Given the description of an element on the screen output the (x, y) to click on. 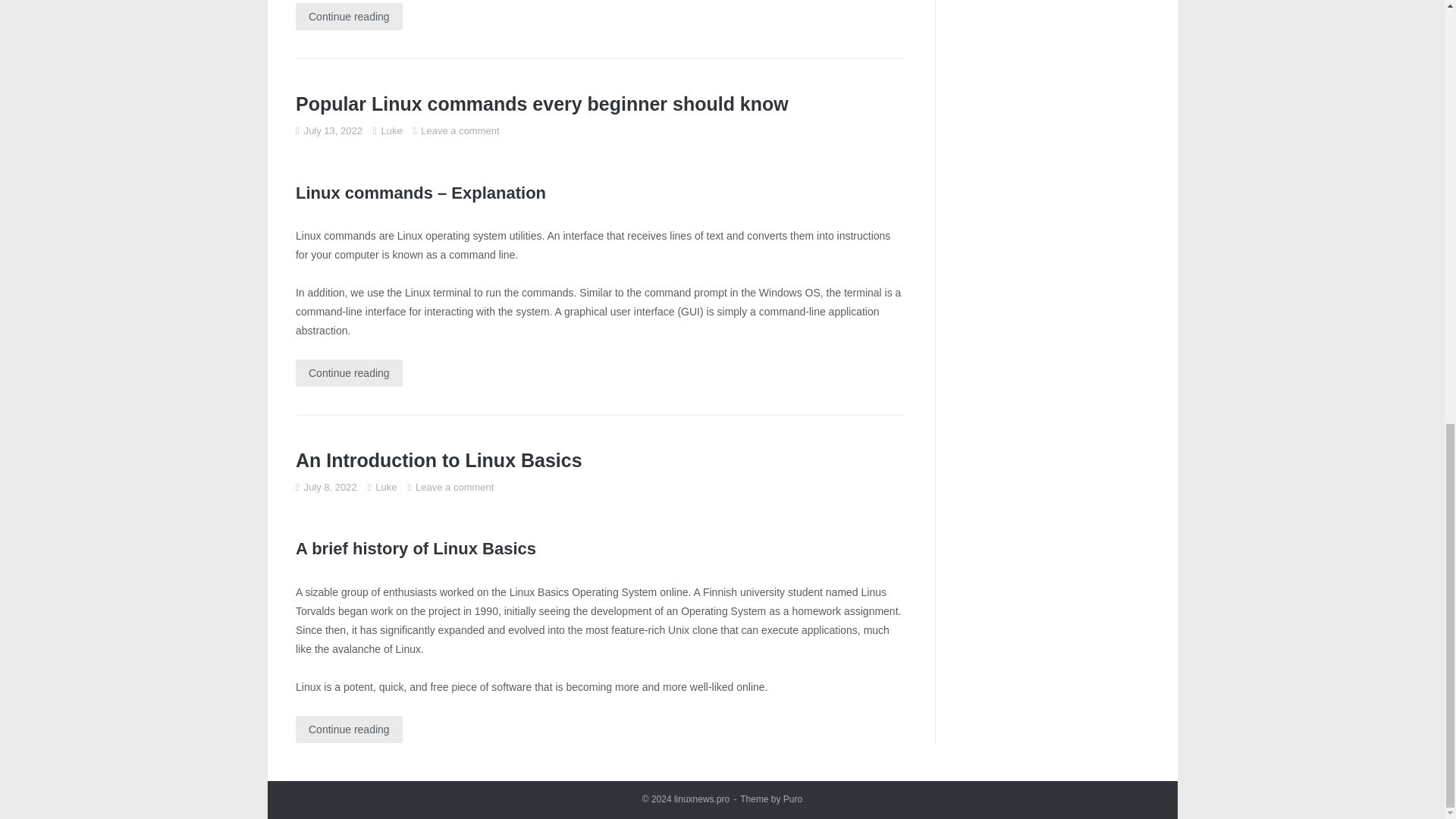
Continue reading (349, 728)
Continue reading (349, 372)
Leave a comment (453, 486)
July 8, 2022 (330, 486)
Luke (385, 486)
An Introduction to Linux Basics (438, 459)
Popular Linux commands every beginner should know (542, 103)
Luke (392, 130)
Leave a comment (459, 130)
Continue reading (349, 16)
July 13, 2022 (333, 130)
